Given the description of an element on the screen output the (x, y) to click on. 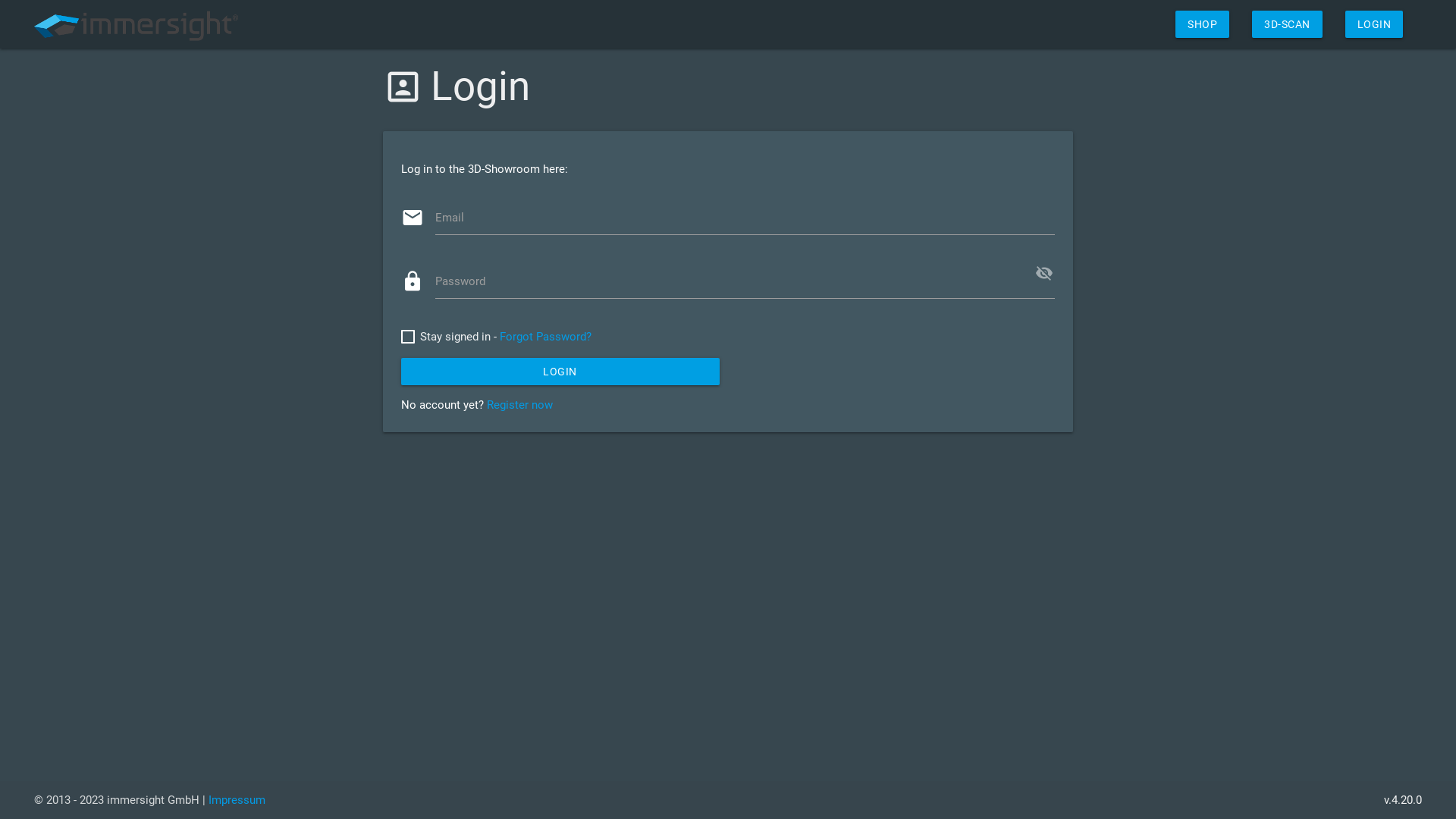
Register now Element type: text (519, 404)
Impressum Element type: text (236, 799)
3D-SCAN Element type: text (1287, 23)
Forgot Password? Element type: text (545, 336)
SHOP Element type: text (1202, 23)
Login Element type: text (560, 371)
LOGIN Element type: text (1374, 23)
